Given the description of an element on the screen output the (x, y) to click on. 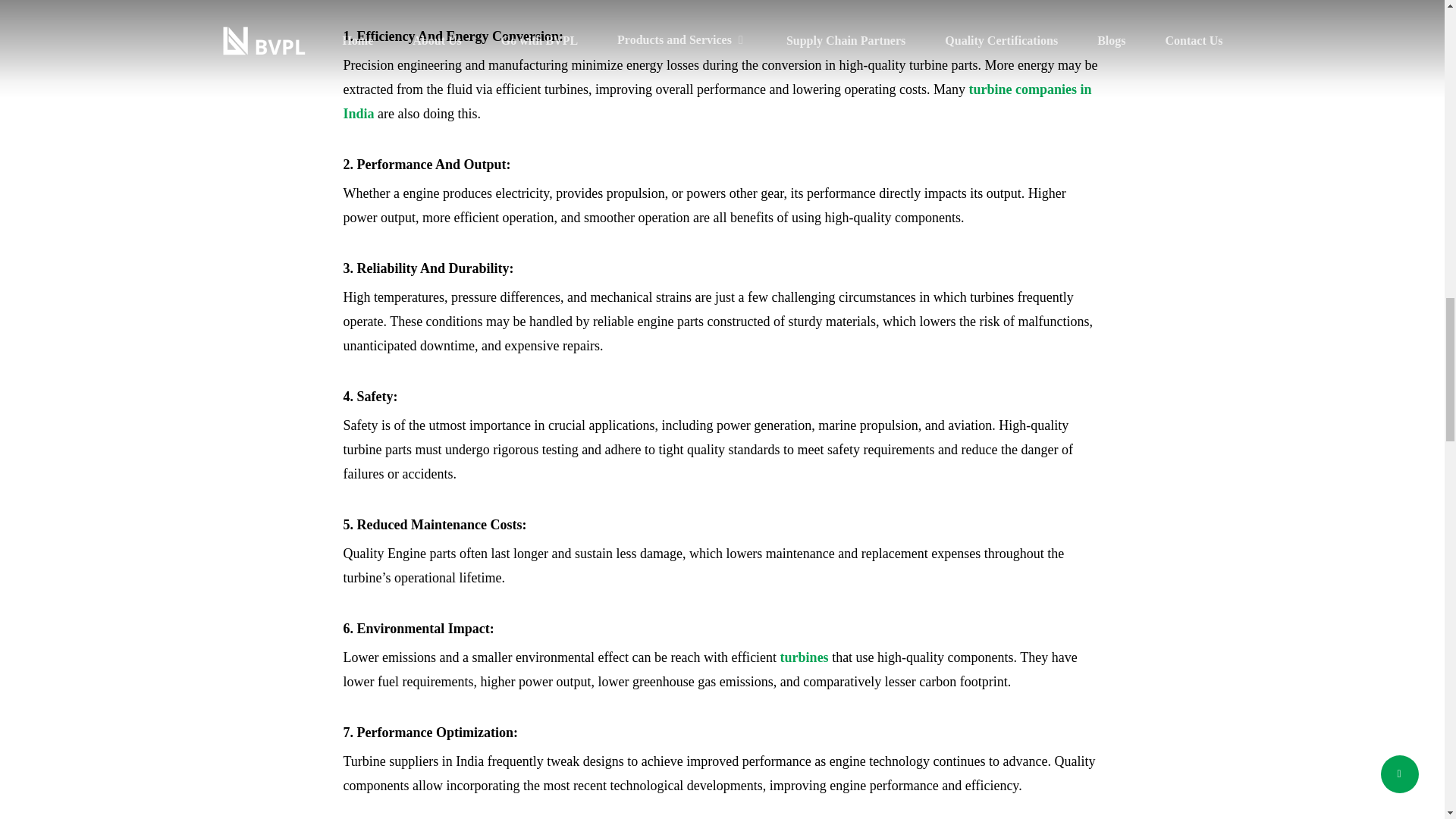
turbines (804, 657)
turbine companies in India (716, 101)
